Given the description of an element on the screen output the (x, y) to click on. 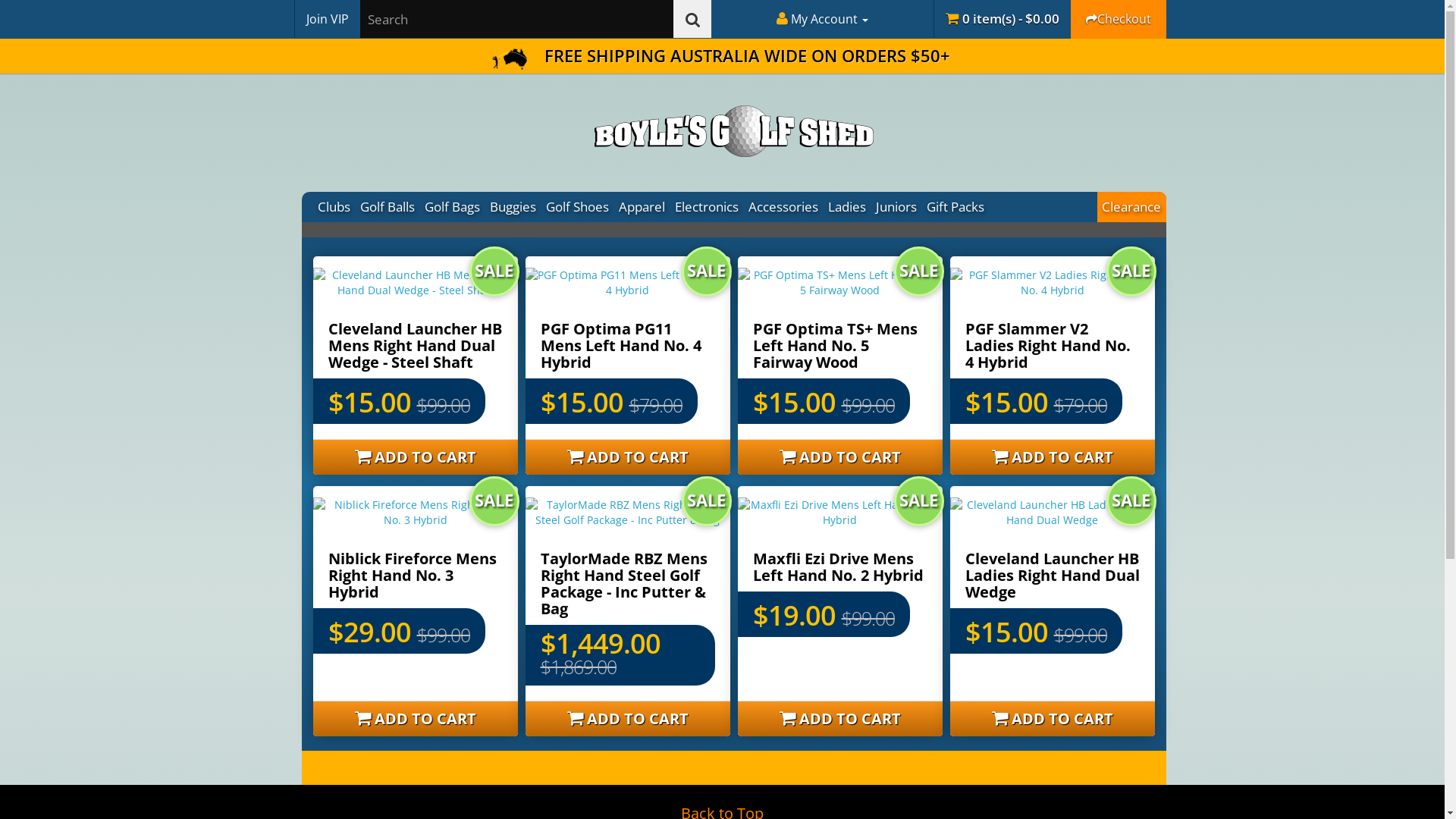
Boyles Golf Shed Element type: hover (733, 130)
Cleveland Launcher HB Ladies Right Hand Dual Wedge Element type: hover (1051, 512)
PGF Optima TS+ Mens Left Hand No. 5 Fairway Wood Element type: hover (839, 282)
ADD TO CART Element type: text (626, 456)
ADD TO CART Element type: text (1051, 718)
Buggies Element type: text (513, 206)
ADD TO CART Element type: text (839, 718)
PGF Optima PG11 Mens Left Hand No. 4 Hybrid Element type: hover (626, 282)
Maxfli Ezi Drive Mens Left Hand No. 2 Hybrid Element type: text (837, 566)
Ladies Element type: text (847, 206)
Clubs Element type: text (333, 206)
Apparel Element type: text (642, 206)
Golf Shoes Element type: text (577, 206)
Electronics Element type: text (706, 206)
Golf Balls Element type: text (386, 206)
ADD TO CART Element type: text (1051, 456)
Checkout Element type: text (1118, 18)
Join VIP Element type: text (327, 18)
Niblick Fireforce Mens Right Hand No. 3 Hybrid Element type: text (411, 575)
PGF Optima PG11 Mens Left Hand No. 4 Hybrid Element type: text (619, 345)
ADD TO CART Element type: text (414, 718)
Cleveland Launcher HB Ladies Right Hand Dual Wedge Element type: text (1051, 575)
Clearance Element type: text (1130, 206)
Maxfli Ezi Drive Mens Left Hand No. 2 Hybrid Element type: hover (839, 512)
Golf Bags Element type: text (452, 206)
Juniors Element type: text (895, 206)
Accessories Element type: text (782, 206)
Niblick Fireforce Mens Right Hand No. 3 Hybrid Element type: hover (414, 512)
PGF Optima TS+ Mens Left Hand No. 5 Fairway Wood Element type: text (834, 345)
My Account Element type: text (822, 18)
ADD TO CART Element type: text (414, 456)
Gift Packs Element type: text (955, 206)
0 item(s) - $0.00 Element type: text (1001, 18)
PGF Slammer V2 Ladies Right Hand No. 4 Hybrid Element type: hover (1051, 282)
ADD TO CART Element type: text (839, 456)
PGF Slammer V2 Ladies Right Hand No. 4 Hybrid Element type: text (1046, 345)
ADD TO CART Element type: text (626, 718)
